Given the description of an element on the screen output the (x, y) to click on. 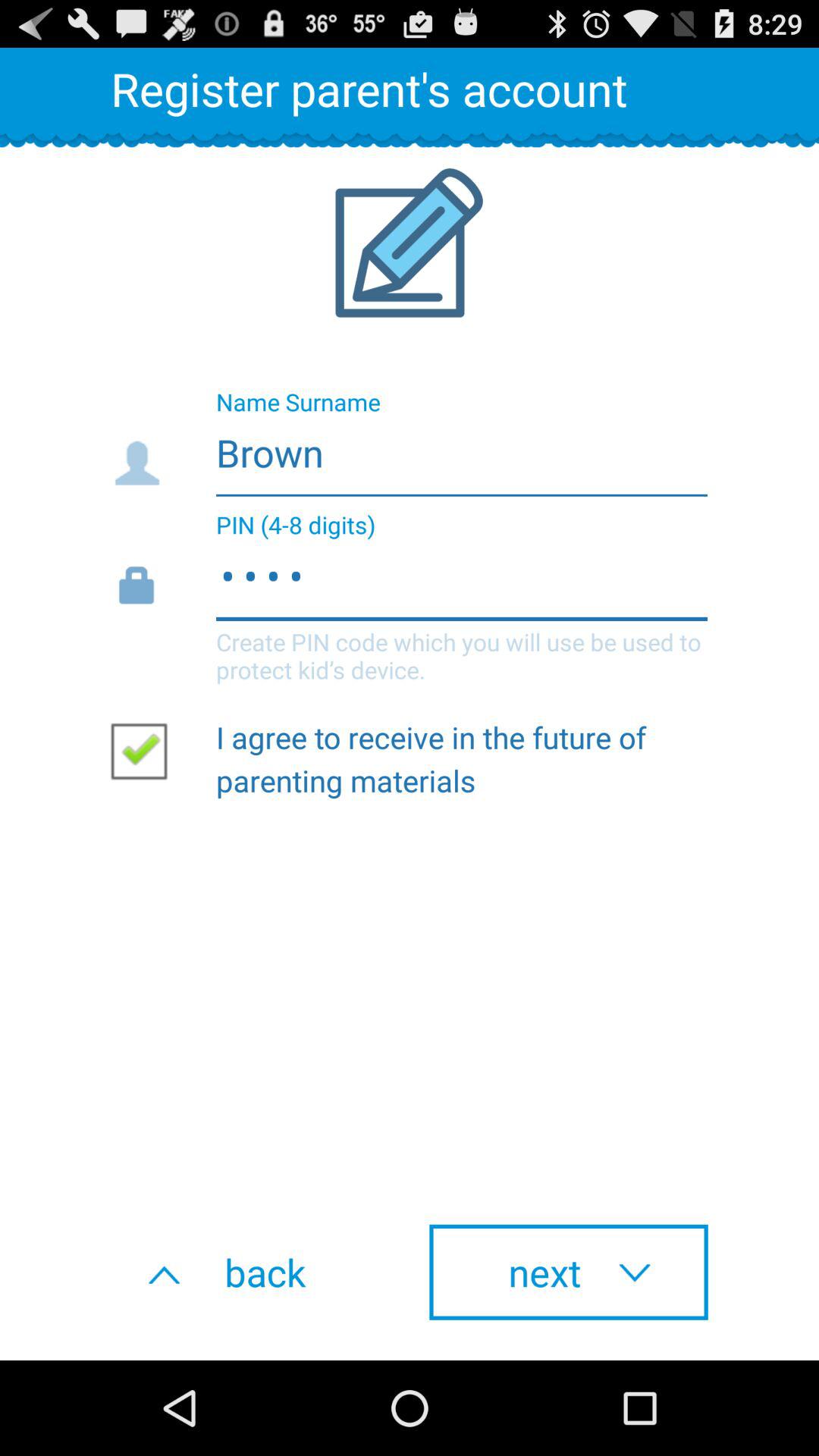
swipe to the brown icon (408, 448)
